Given the description of an element on the screen output the (x, y) to click on. 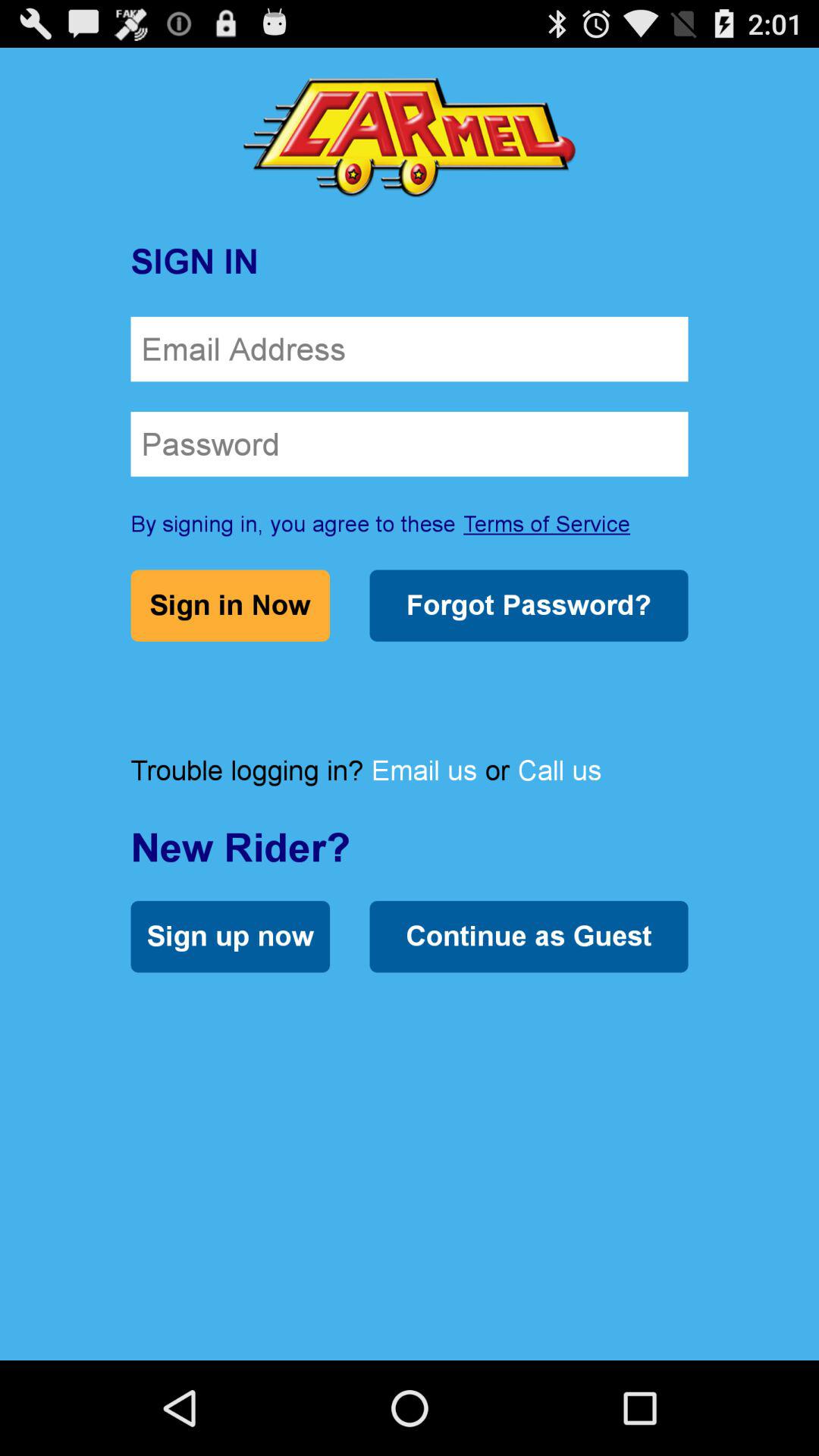
open the item to the right of the trouble logging in? item (424, 770)
